Given the description of an element on the screen output the (x, y) to click on. 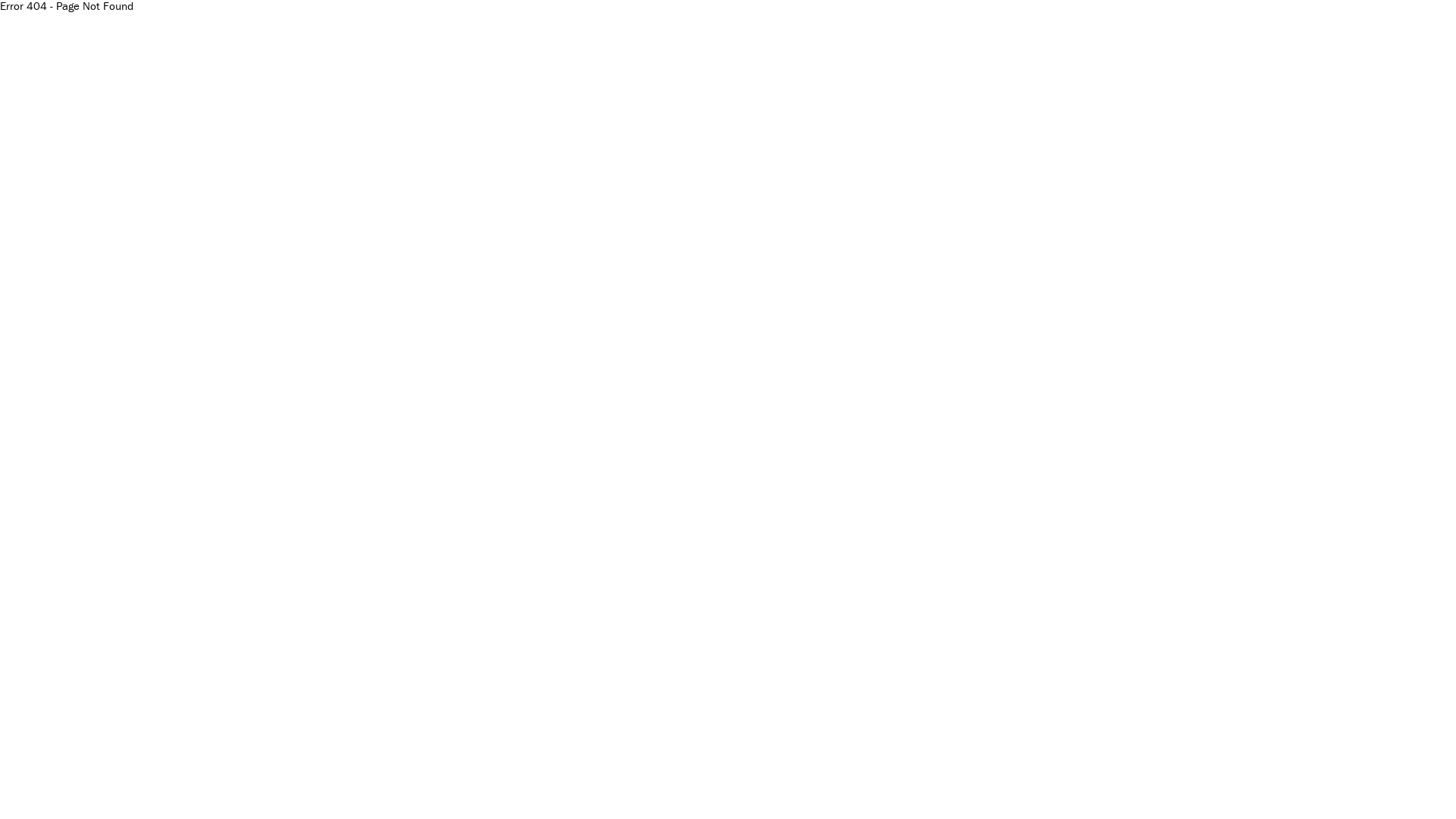
PROJECTS Element type: text (126, 783)
CONTACT Element type: text (459, 783)
STORE Element type: text (579, 783)
NEWS Element type: text (340, 783)
COLLABS Element type: text (52, 783)
ABOUT Element type: text (394, 783)
PRODUCTION CASIMIR Element type: text (240, 783)
PRESS Element type: text (523, 783)
